Given the description of an element on the screen output the (x, y) to click on. 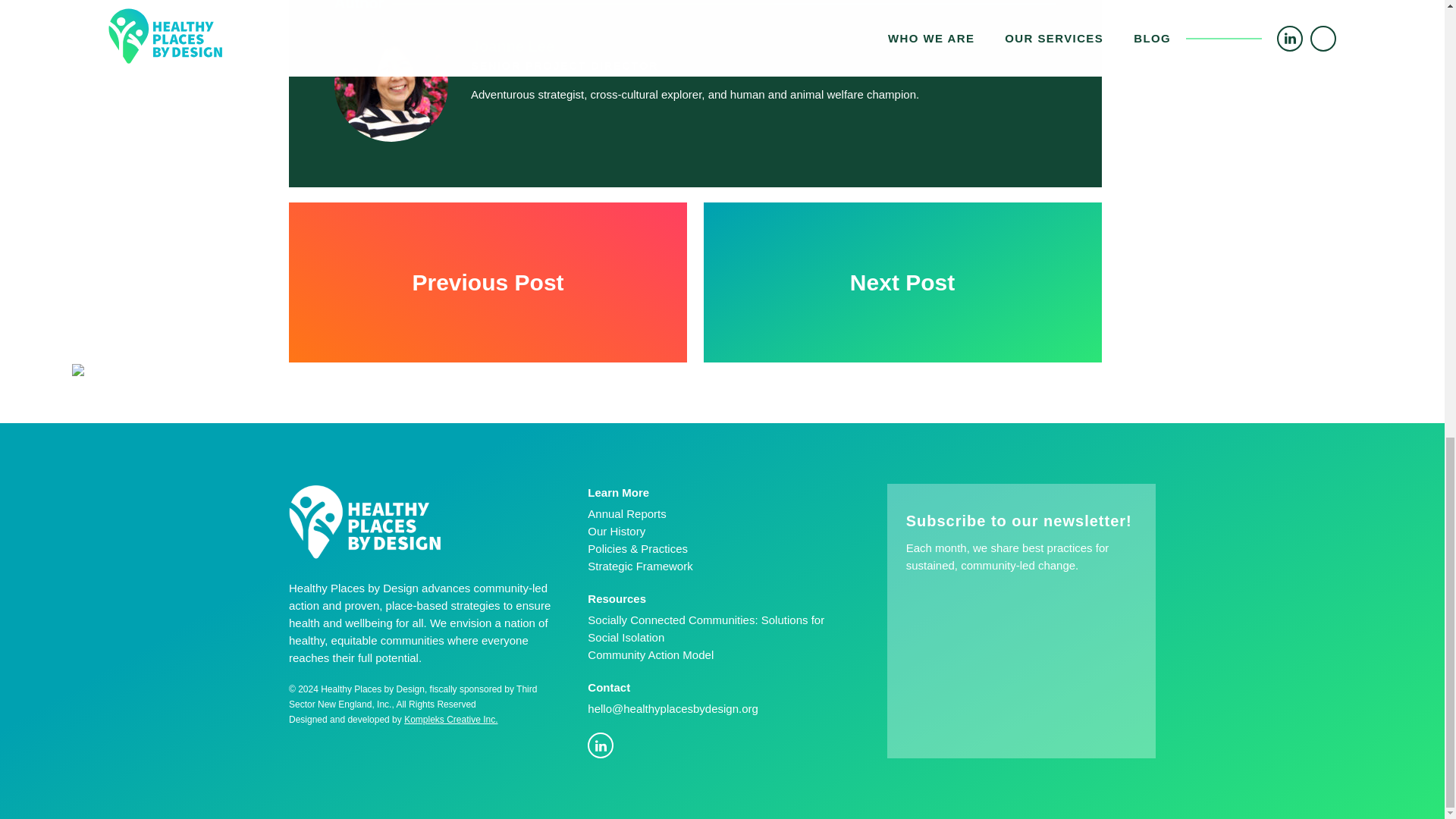
Next Post (902, 282)
Joanne Lee (512, 45)
Previous Post (488, 282)
